Given the description of an element on the screen output the (x, y) to click on. 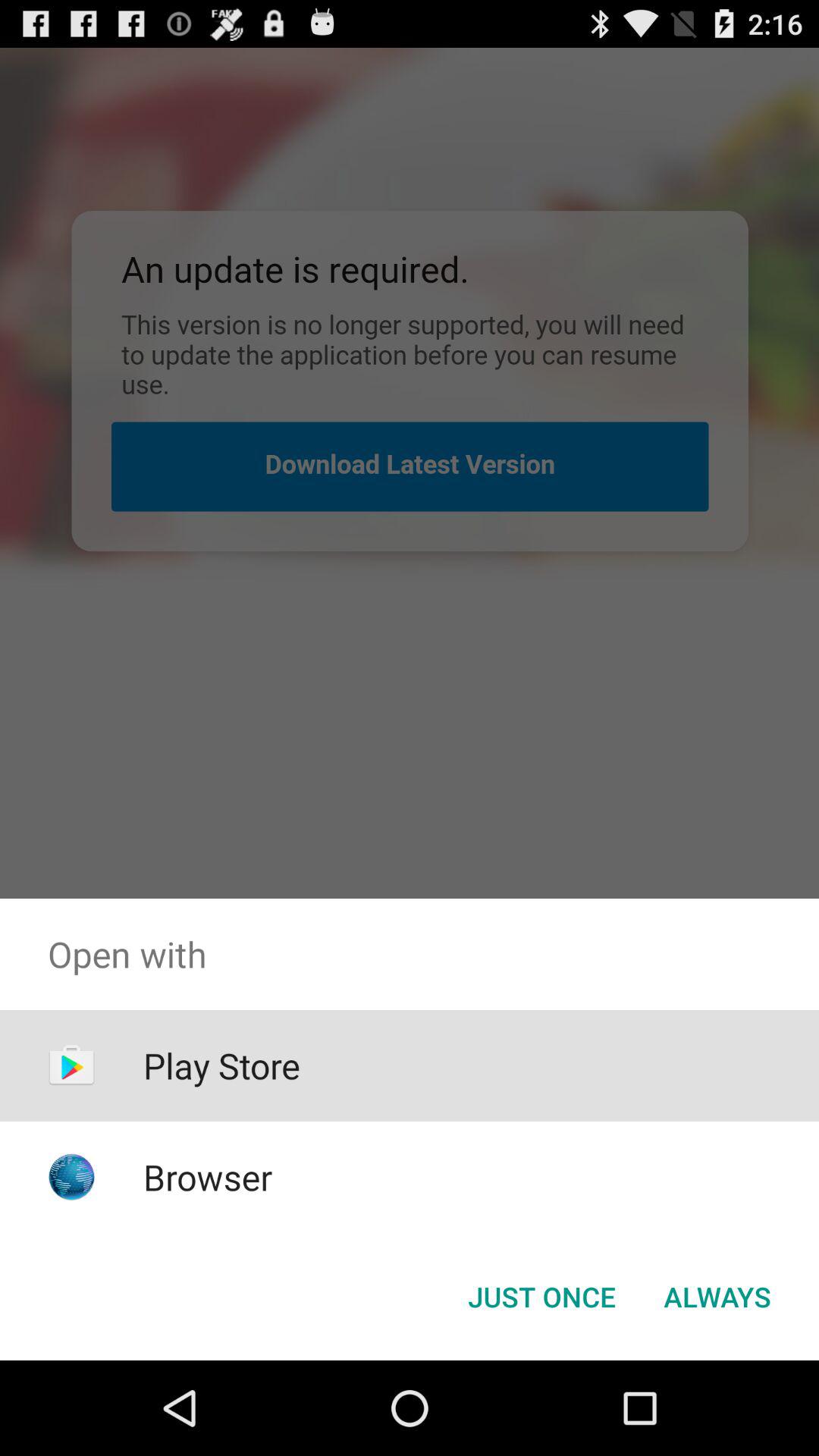
tap the item to the left of the always (541, 1296)
